Given the description of an element on the screen output the (x, y) to click on. 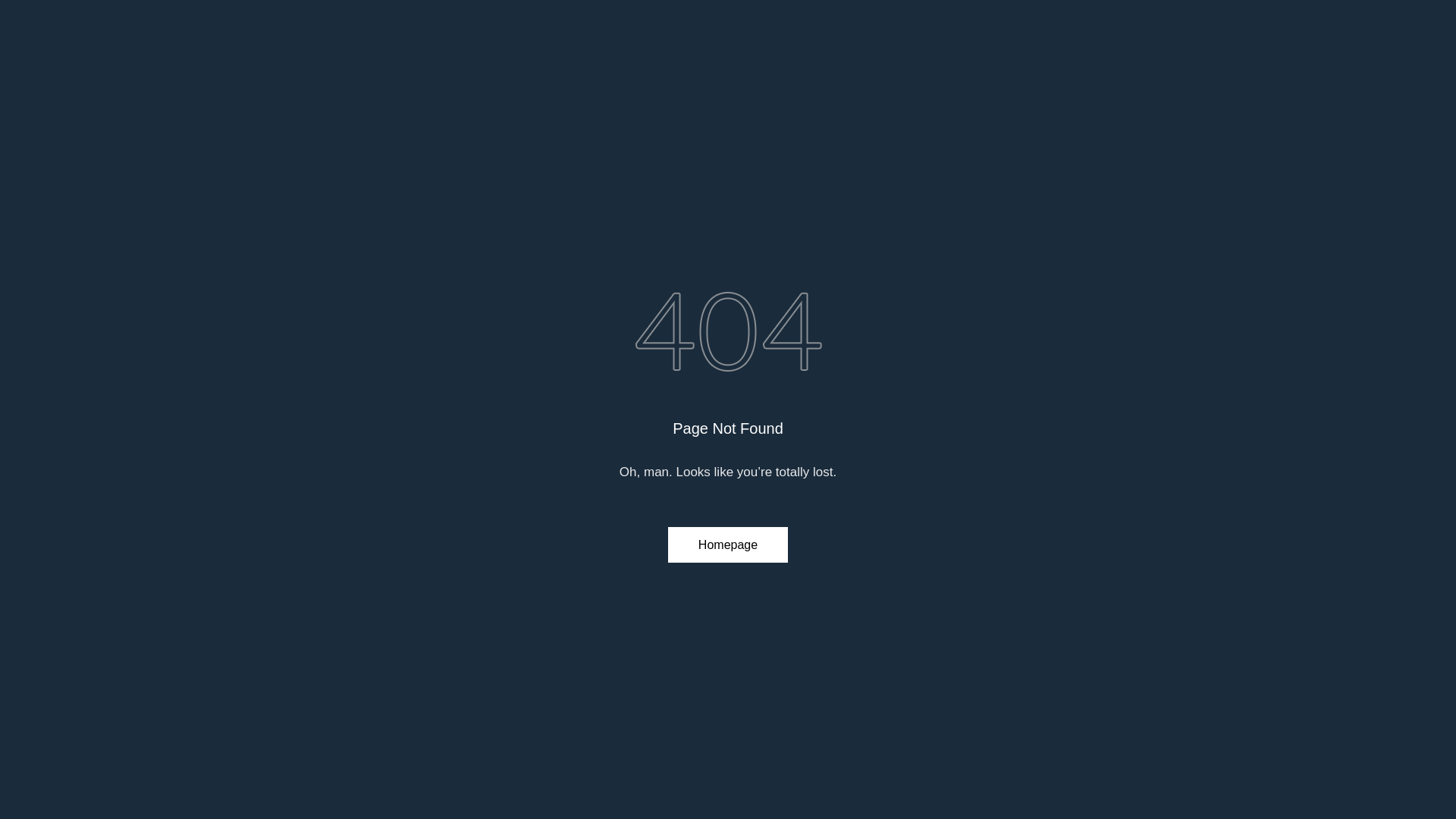
Homepage Element type: text (727, 544)
